Given the description of an element on the screen output the (x, y) to click on. 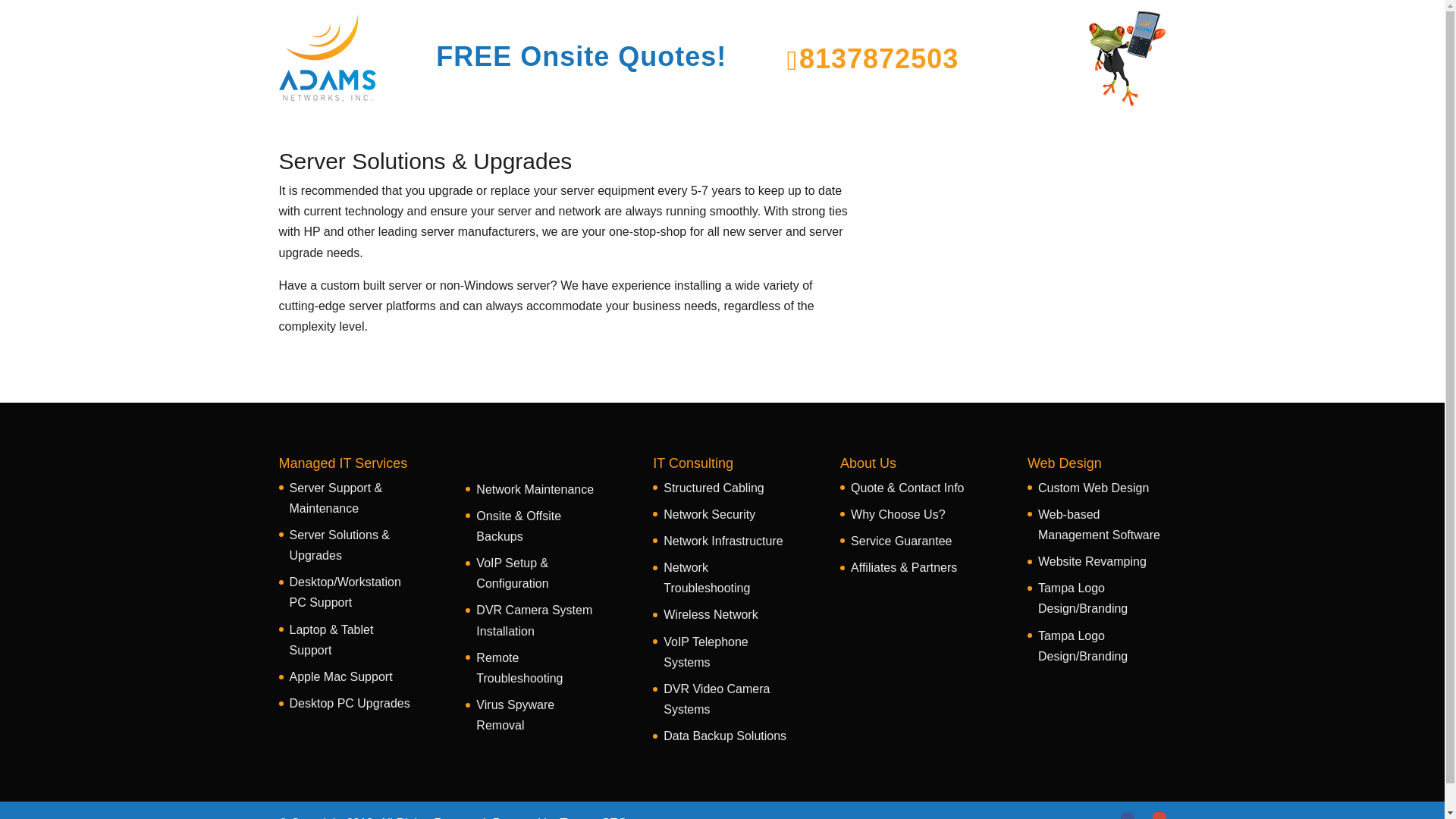
IT SUPPORT MANAGED (472, 65)
IT SUPPORT PLANS (754, 65)
IT CONSULTING (623, 65)
FREE Onsite Quotes! (580, 58)
CONTACT US (1065, 65)
ABOUT US (869, 65)
HOME (358, 65)
8137872503 (877, 58)
WEB DESIGN (967, 65)
